Given the description of an element on the screen output the (x, y) to click on. 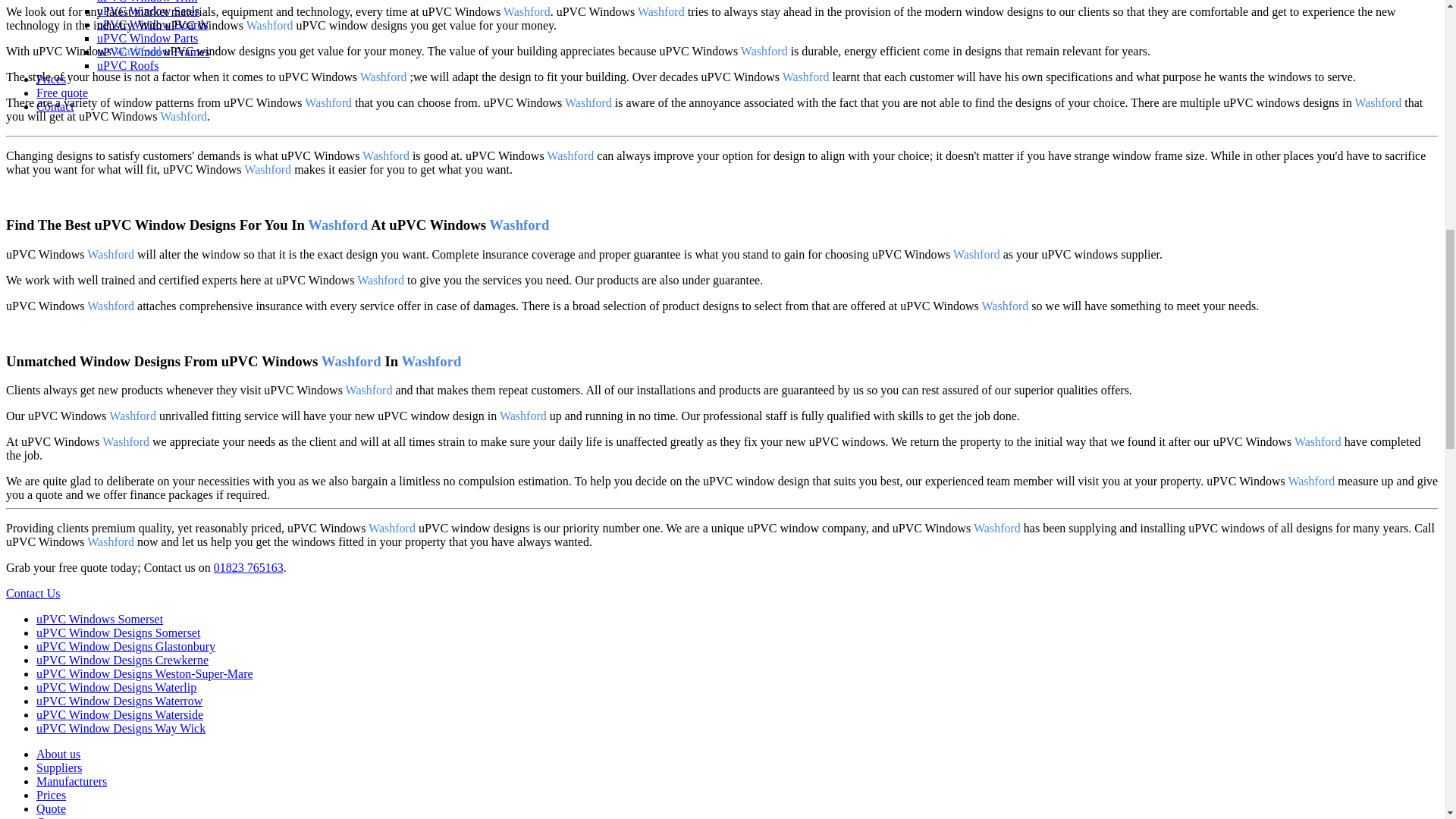
uPVC Window Seals (148, 10)
uPVC Window Frames (153, 51)
uPVC Roofs (127, 65)
uPVC Window Trim (146, 2)
uPVC Window Boards (152, 24)
uPVC Window Parts (147, 38)
Prices (50, 78)
